Given the description of an element on the screen output the (x, y) to click on. 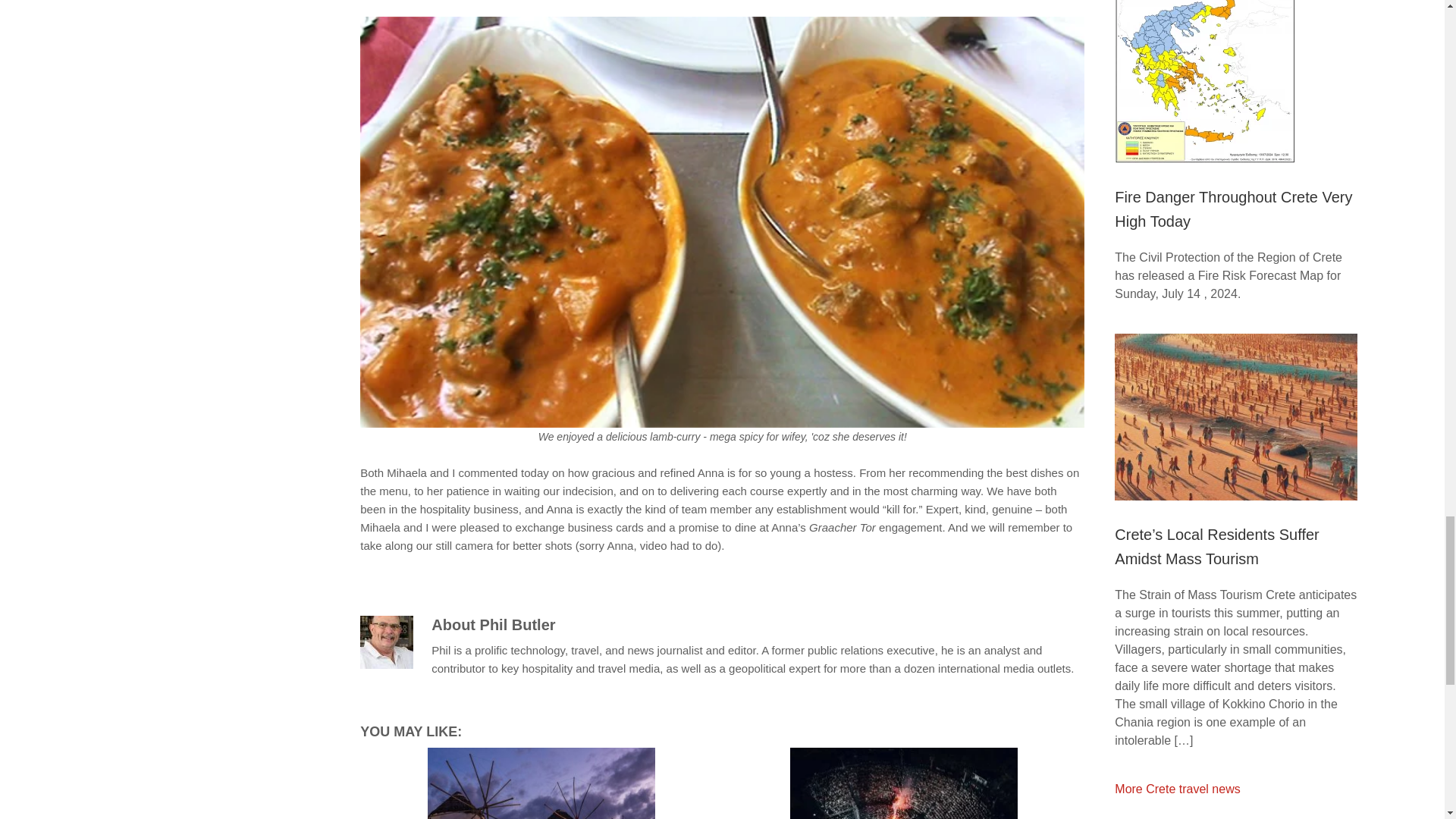
Permanent Link to  (903, 783)
Permanent Link to  (540, 783)
